Given the description of an element on the screen output the (x, y) to click on. 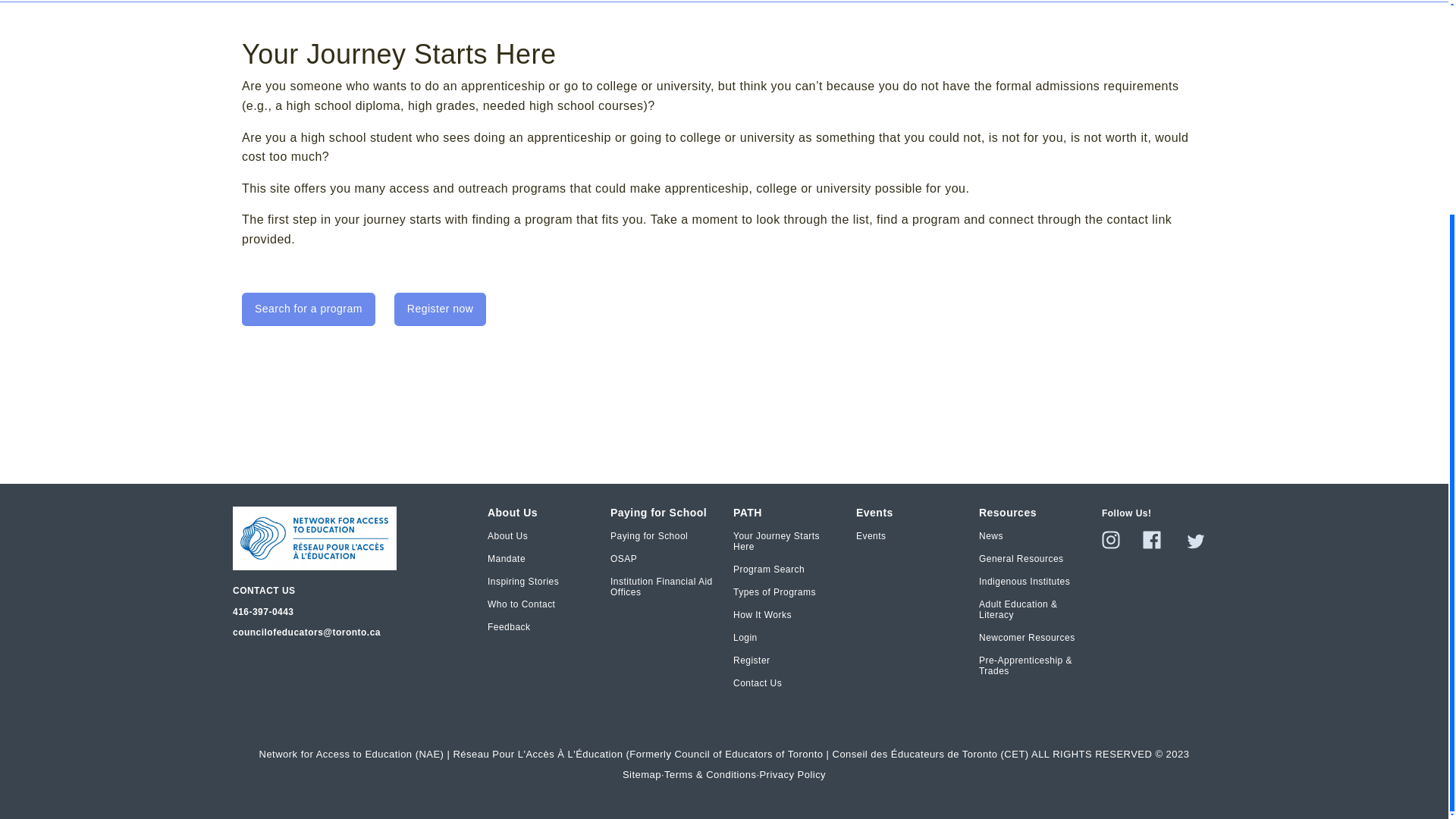
Events (871, 535)
Program Search (769, 569)
Types of Programs (774, 592)
Newcomer Resources (1026, 637)
News (990, 535)
Register now (440, 308)
Indigenous Institutes (1024, 581)
Institution Financial Aid Offices (662, 586)
Mandate (506, 558)
Who to Contact (520, 603)
